Given the description of an element on the screen output the (x, y) to click on. 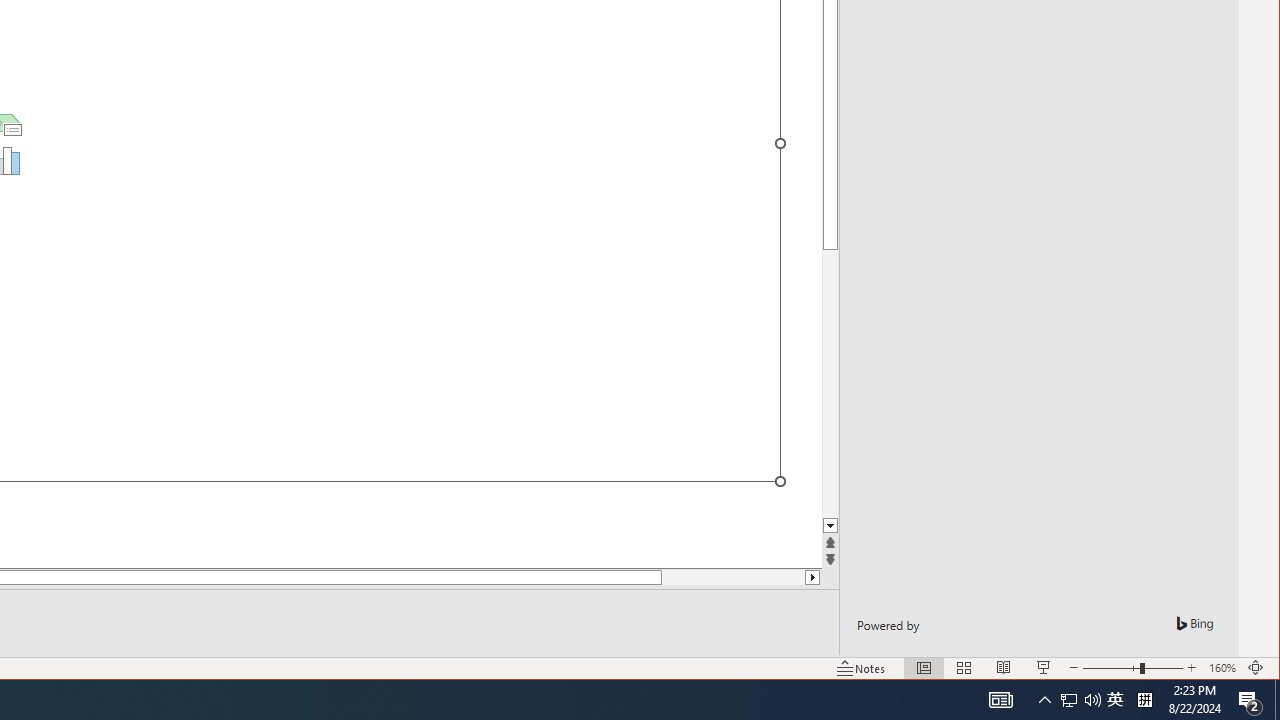
Action Center, 2 new notifications (1250, 699)
Zoom 160% (1222, 668)
